Given the description of an element on the screen output the (x, y) to click on. 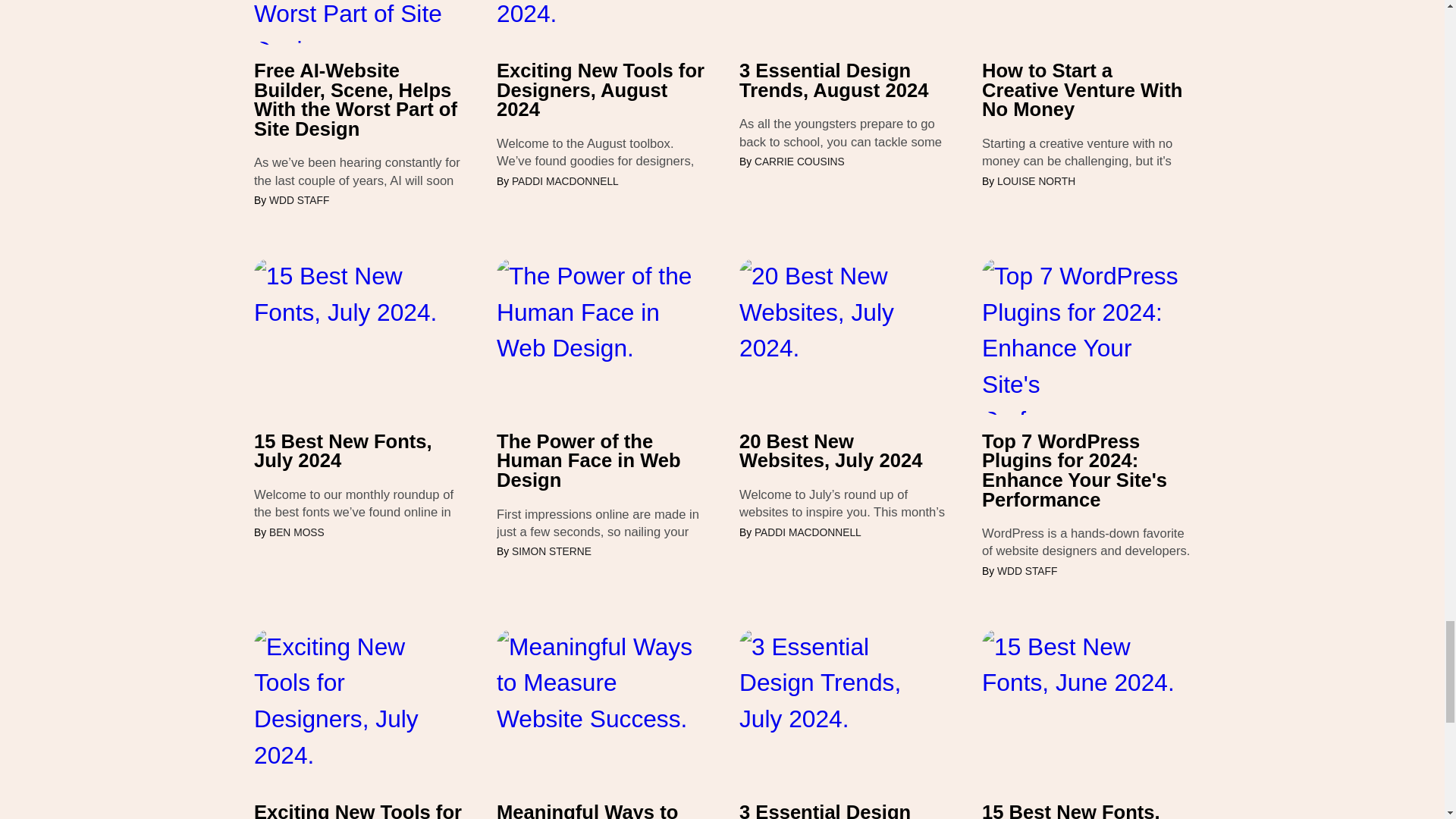
Exciting New Tools for Designers, August 2024 (600, 90)
PADDI MACDONNELL (565, 181)
CARRIE COUSINS (799, 161)
WDD STAFF (299, 200)
3 Essential Design Trends, August 2024 (843, 80)
